Given the description of an element on the screen output the (x, y) to click on. 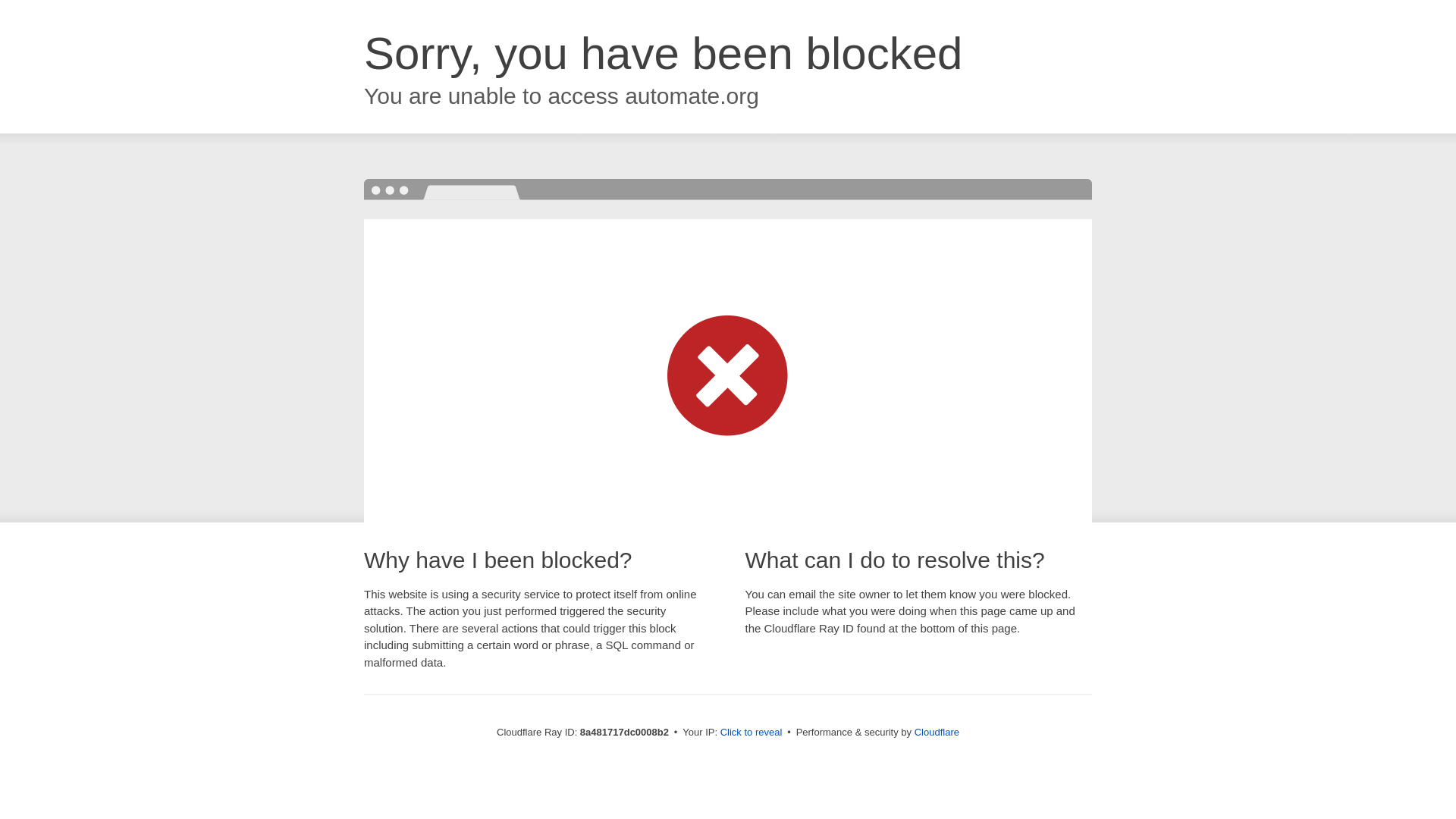
Cloudflare (936, 731)
Click to reveal (751, 732)
